Given the description of an element on the screen output the (x, y) to click on. 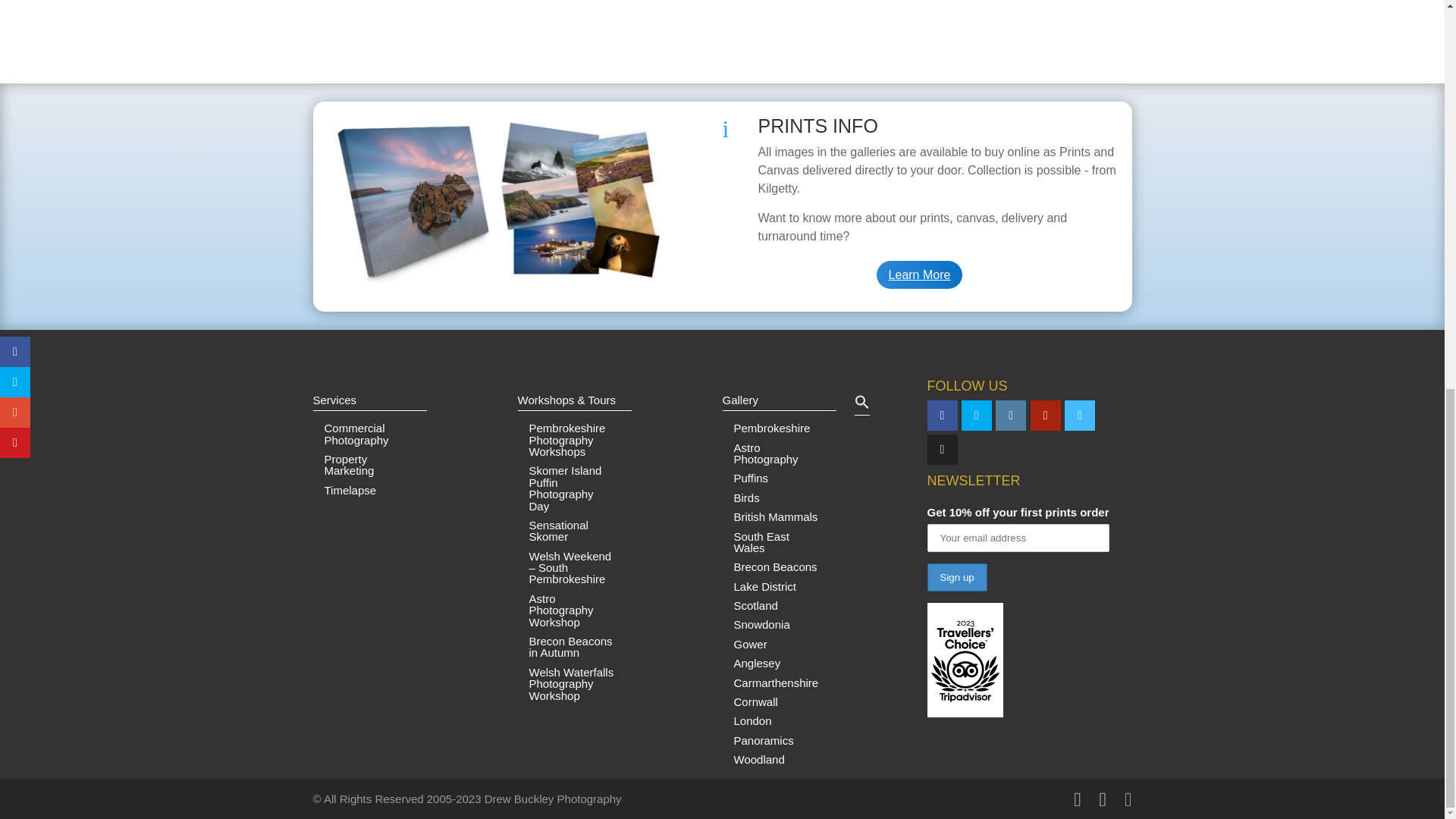
Prints FAQ (497, 283)
Sign up (956, 577)
